Given the description of an element on the screen output the (x, y) to click on. 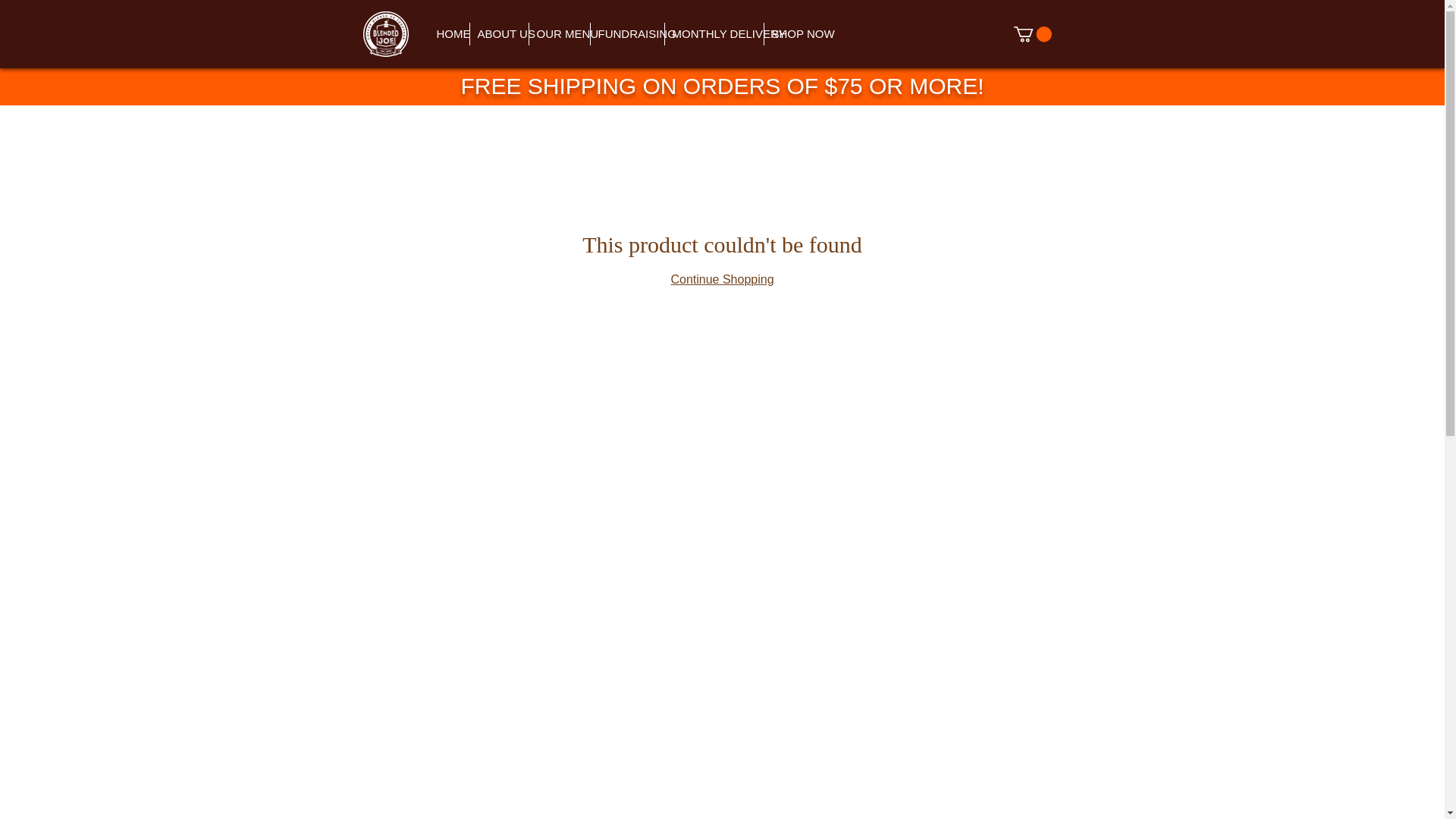
MONTHLY DELIVERY (712, 33)
ABOUT US (497, 33)
HOME (448, 33)
OUR MENU (558, 33)
FUNDRAISING (626, 33)
Continue Shopping (721, 278)
SHOP NOW (794, 33)
